Given the description of an element on the screen output the (x, y) to click on. 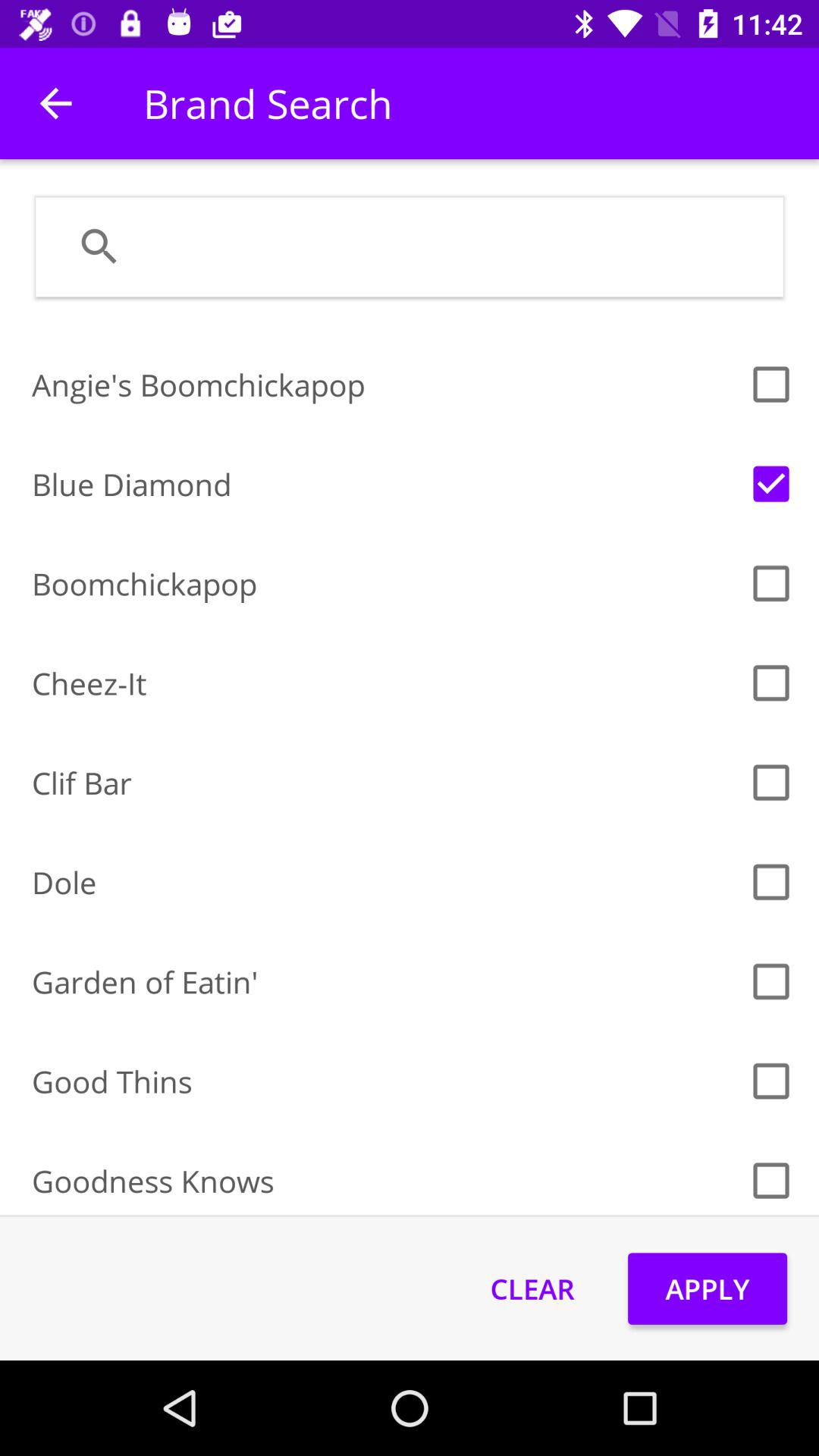
scroll until the apply icon (707, 1288)
